Given the description of an element on the screen output the (x, y) to click on. 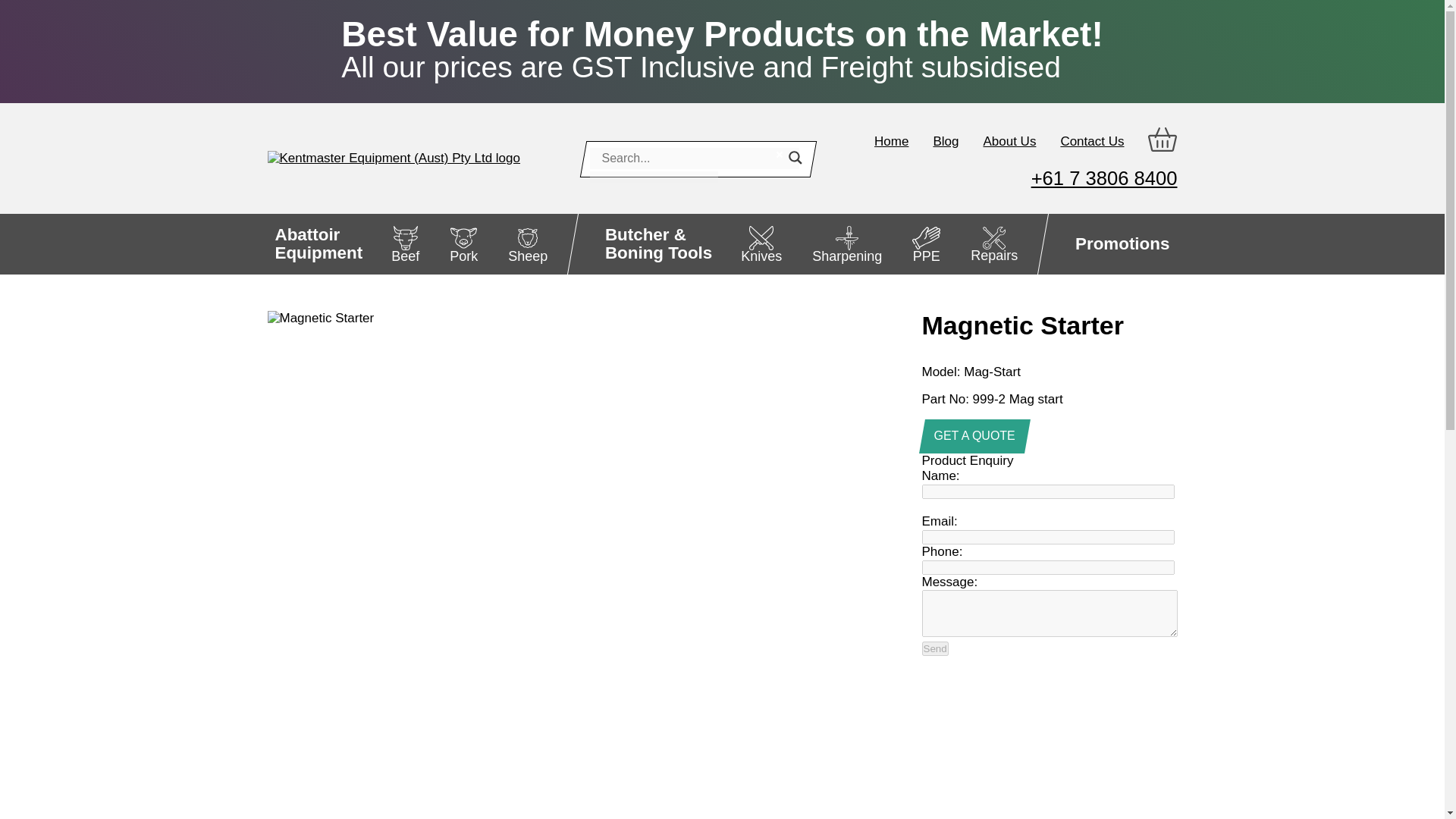
Sharpening (847, 243)
Repairs (993, 243)
Home (891, 141)
Sheep (527, 243)
Repairs (993, 243)
Tools for Sheep production (317, 243)
Knives (527, 243)
Send (761, 243)
Blog (935, 648)
